Given the description of an element on the screen output the (x, y) to click on. 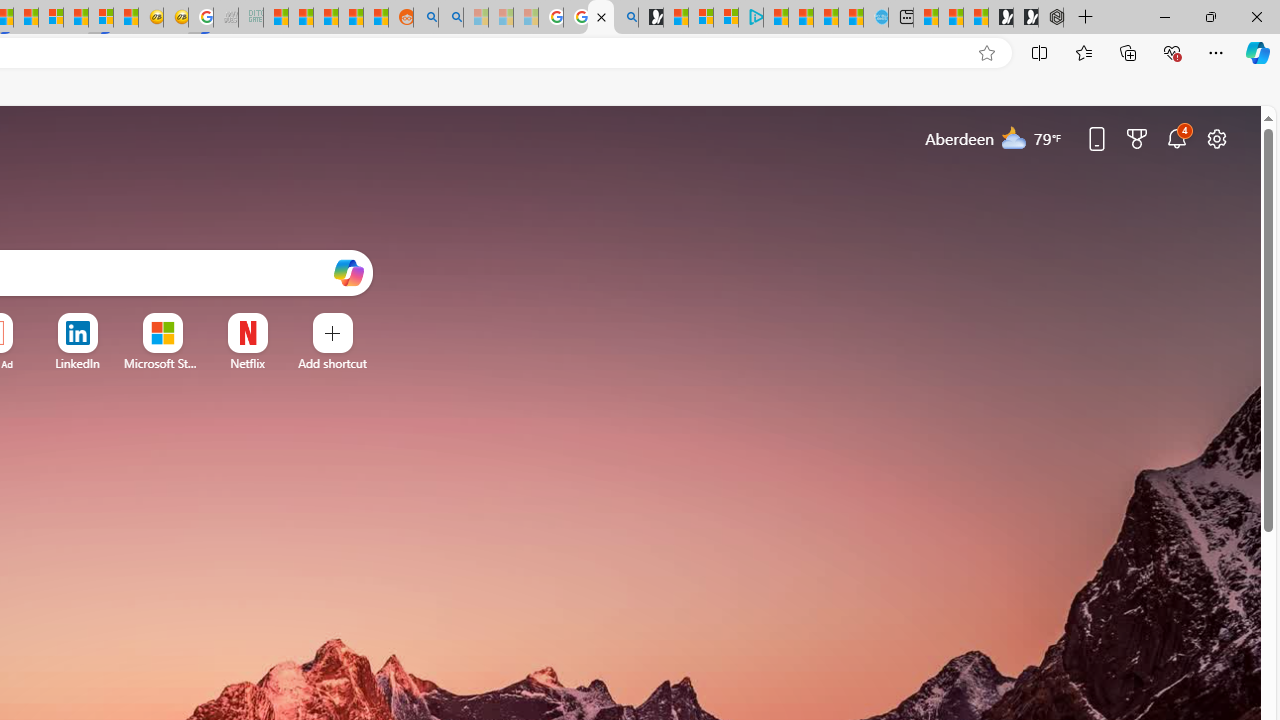
Page settings (1216, 138)
Home | Sky Blue Bikes - Sky Blue Bikes (876, 17)
Utah sues federal government - Search (451, 17)
